Given the description of an element on the screen output the (x, y) to click on. 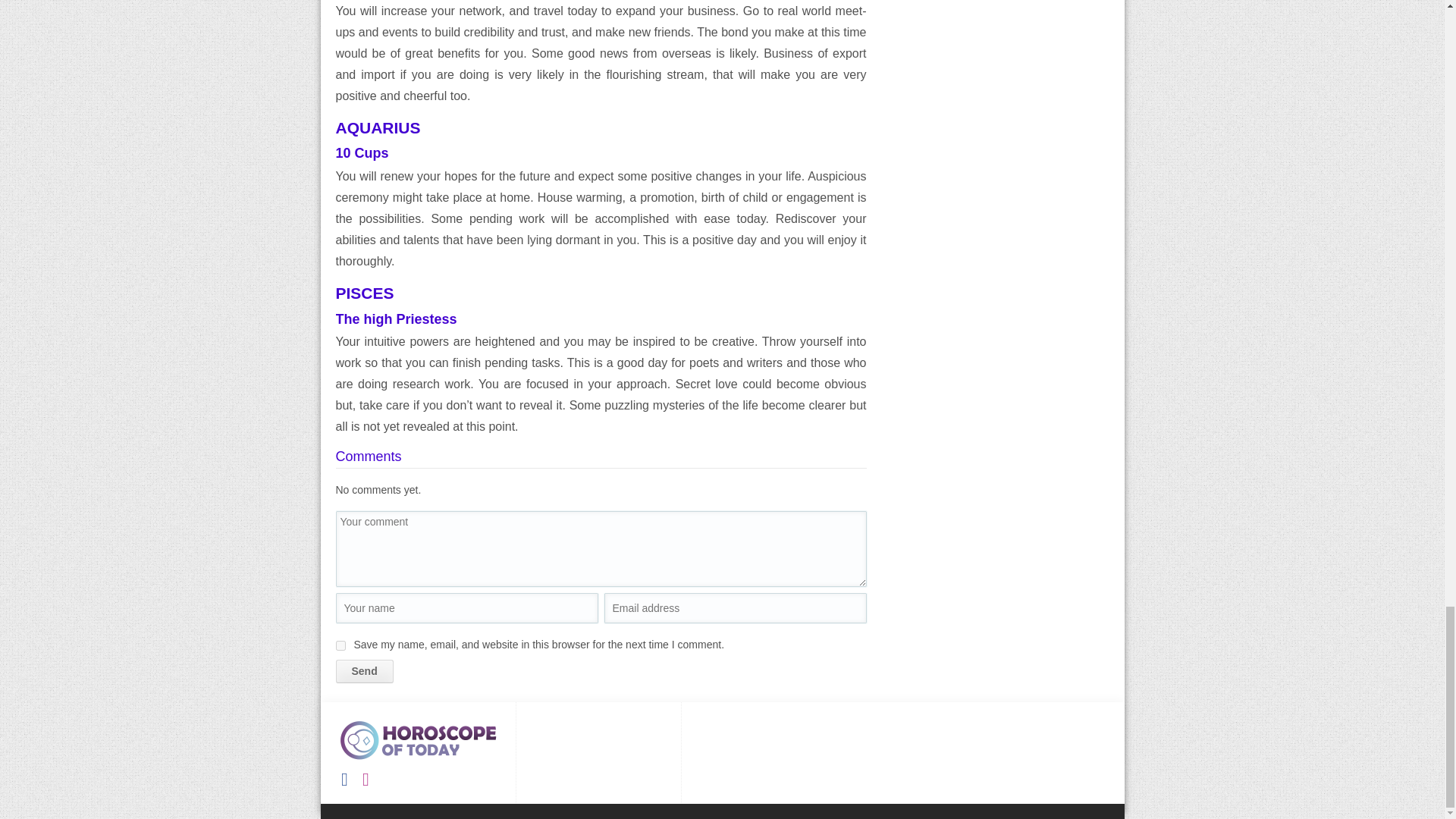
yes (339, 645)
HoroscopeOfToday (418, 739)
Send (363, 671)
